Given the description of an element on the screen output the (x, y) to click on. 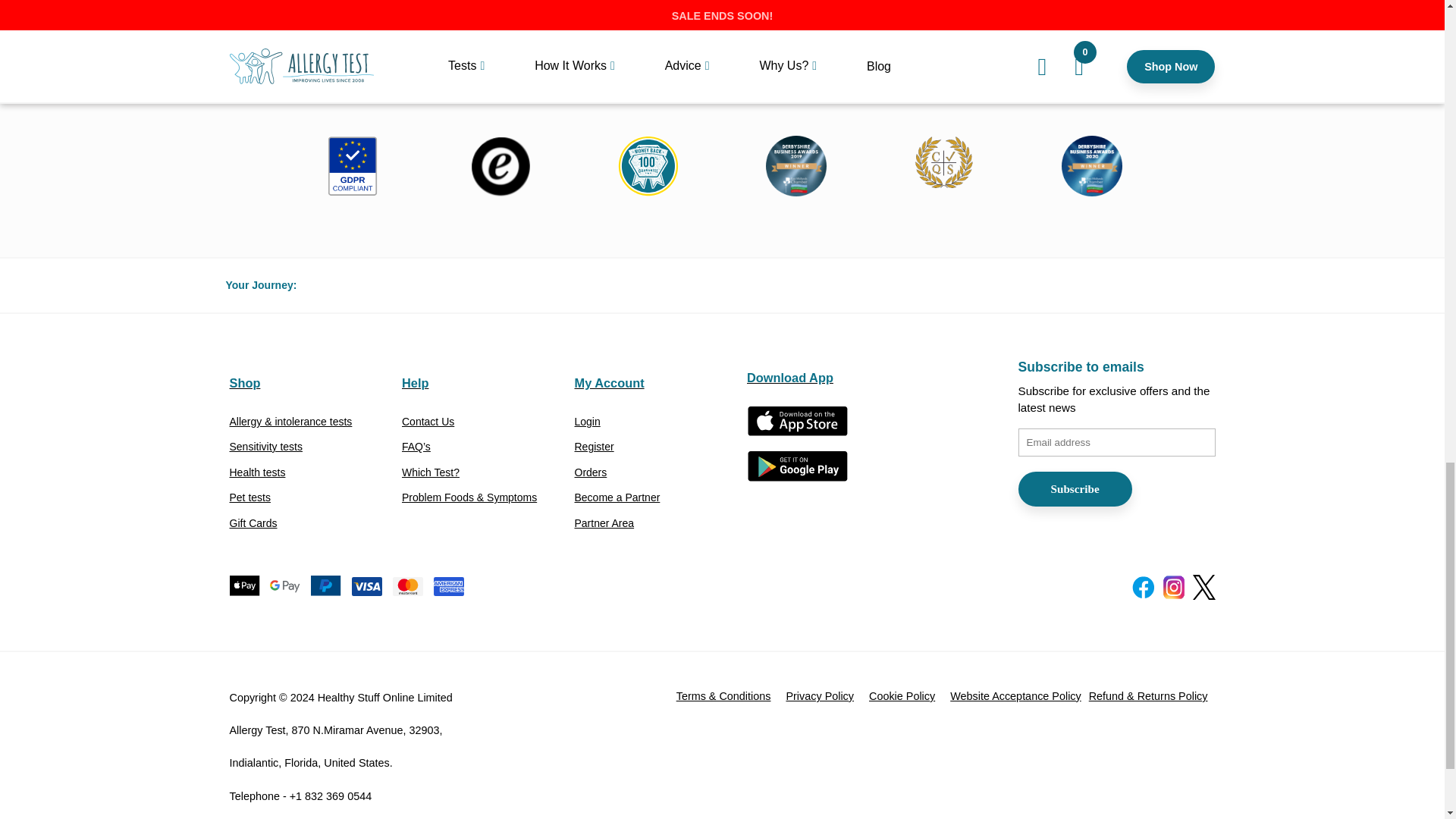
Subscribe (1074, 488)
